Given the description of an element on the screen output the (x, y) to click on. 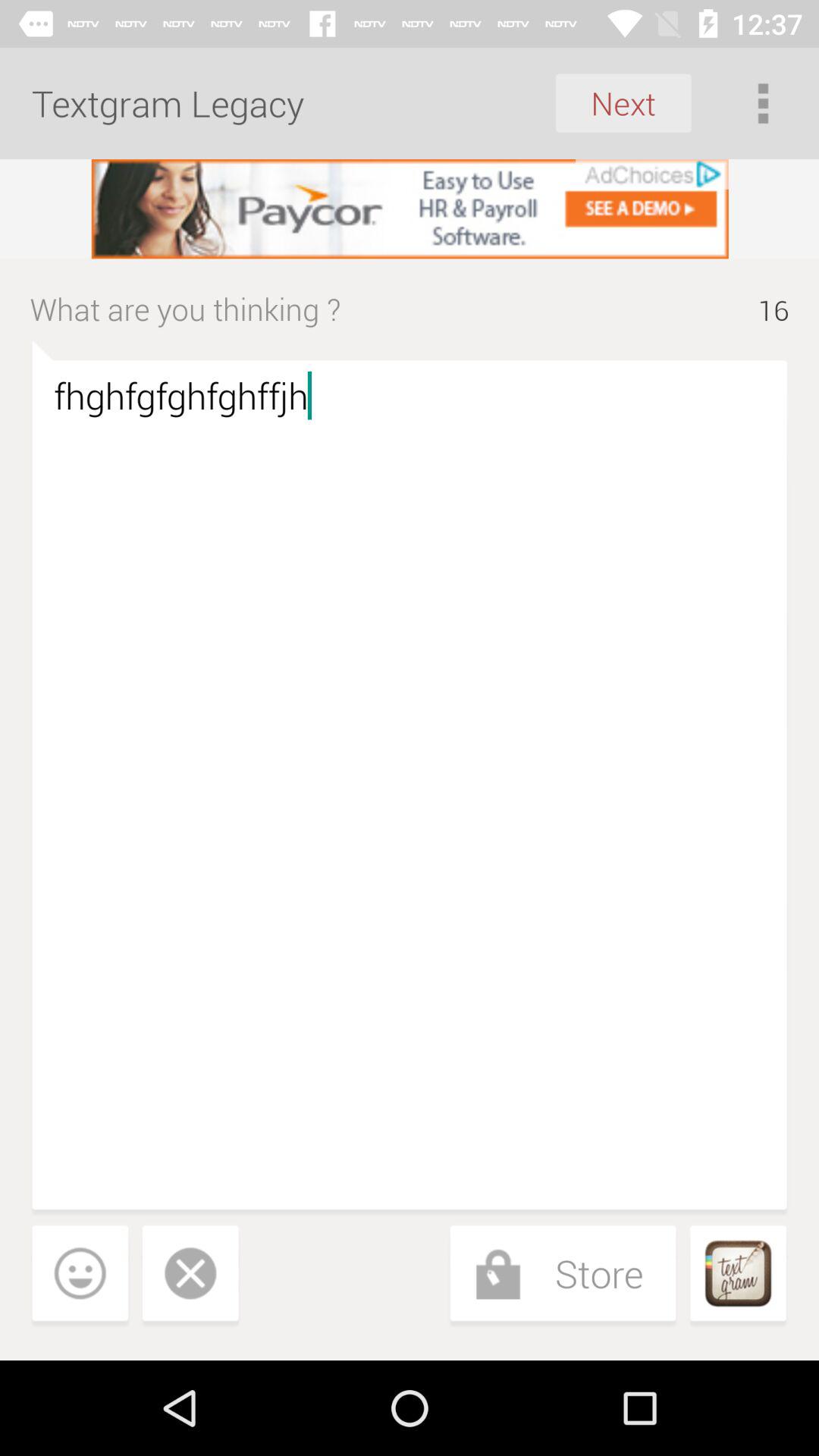
go to advertisement (409, 208)
